Given the description of an element on the screen output the (x, y) to click on. 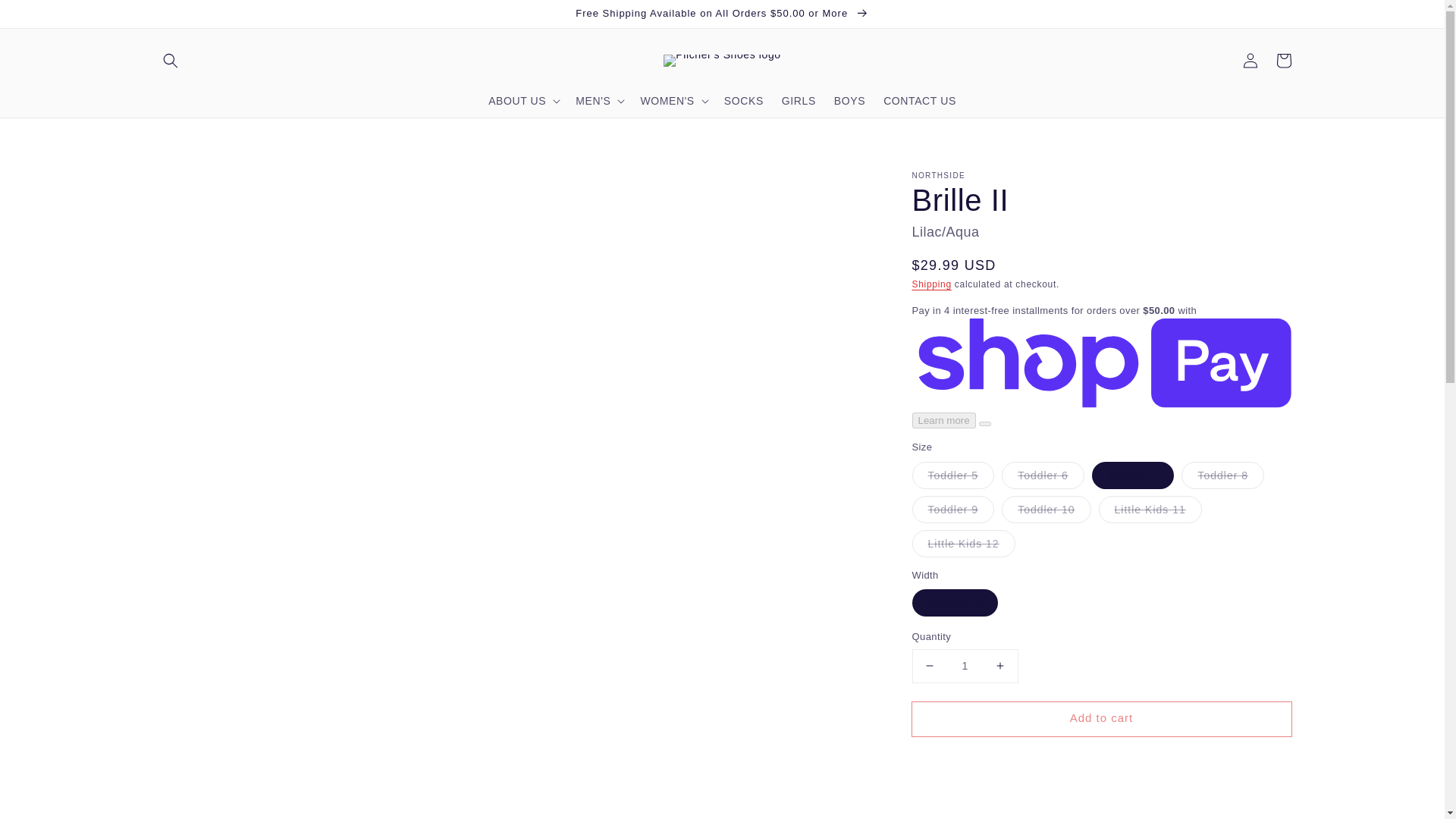
Skip to content (45, 16)
